Given the description of an element on the screen output the (x, y) to click on. 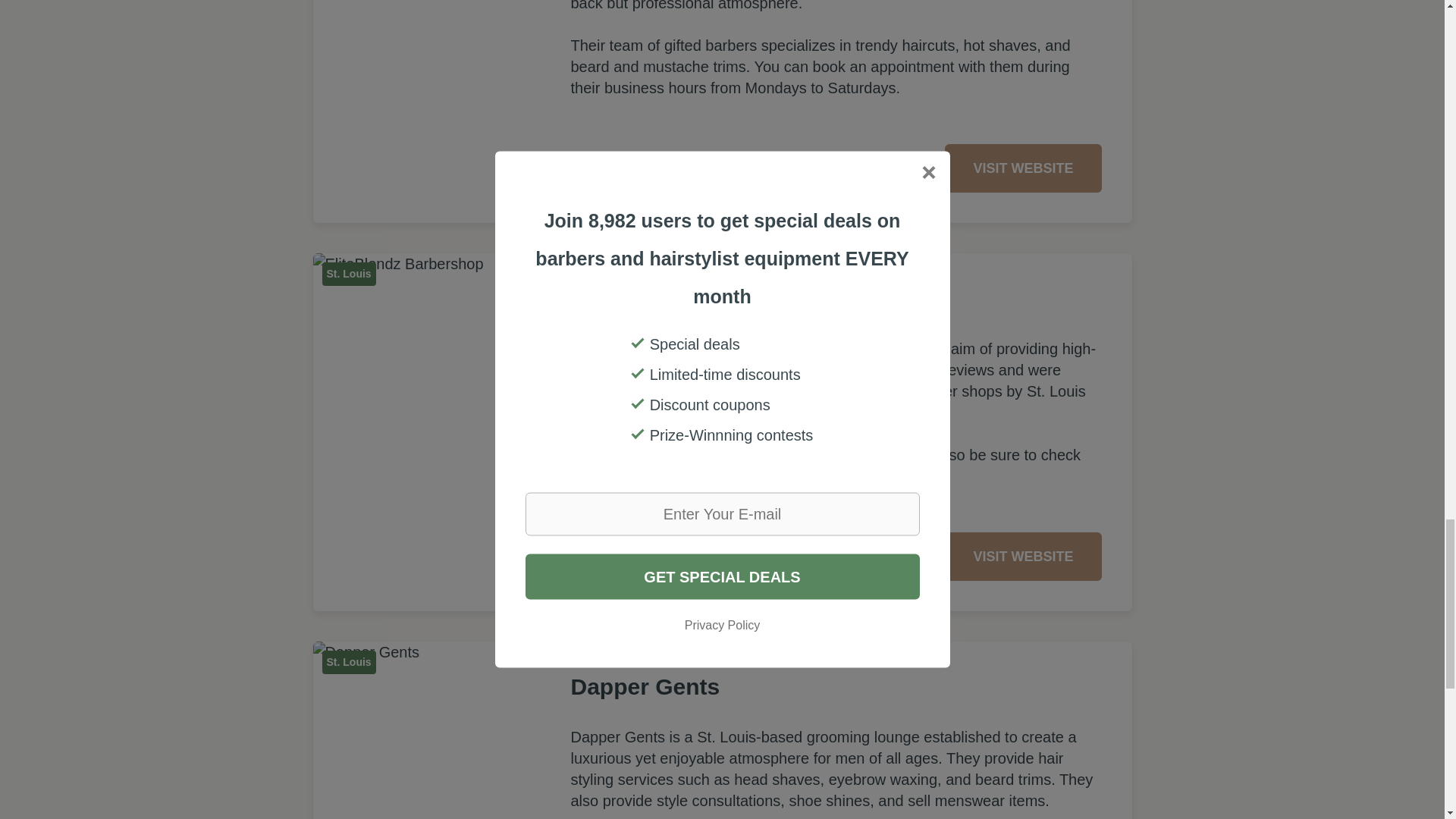
Instagram (657, 168)
Address (584, 556)
Facebook (622, 168)
Address (584, 168)
